Given the description of an element on the screen output the (x, y) to click on. 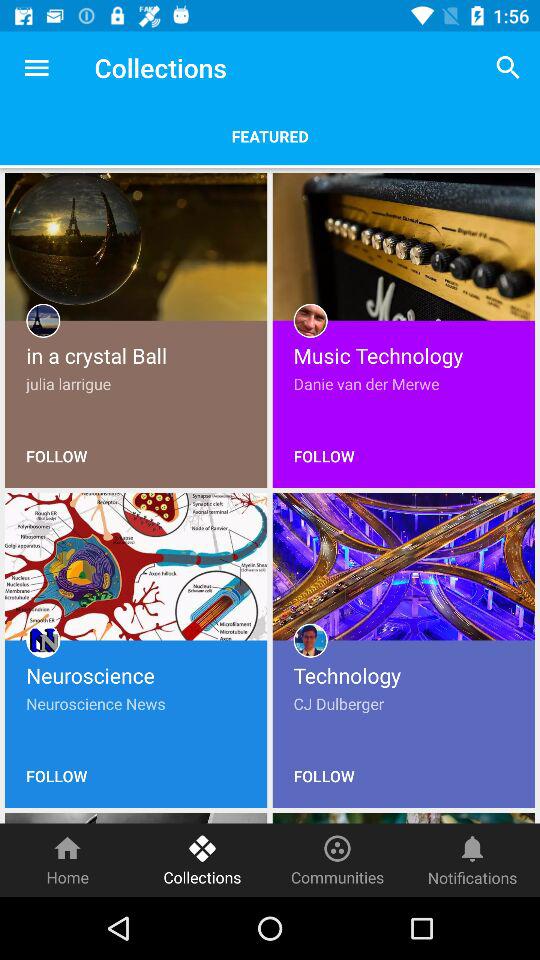
select the icon below the follow item (337, 859)
